Given the description of an element on the screen output the (x, y) to click on. 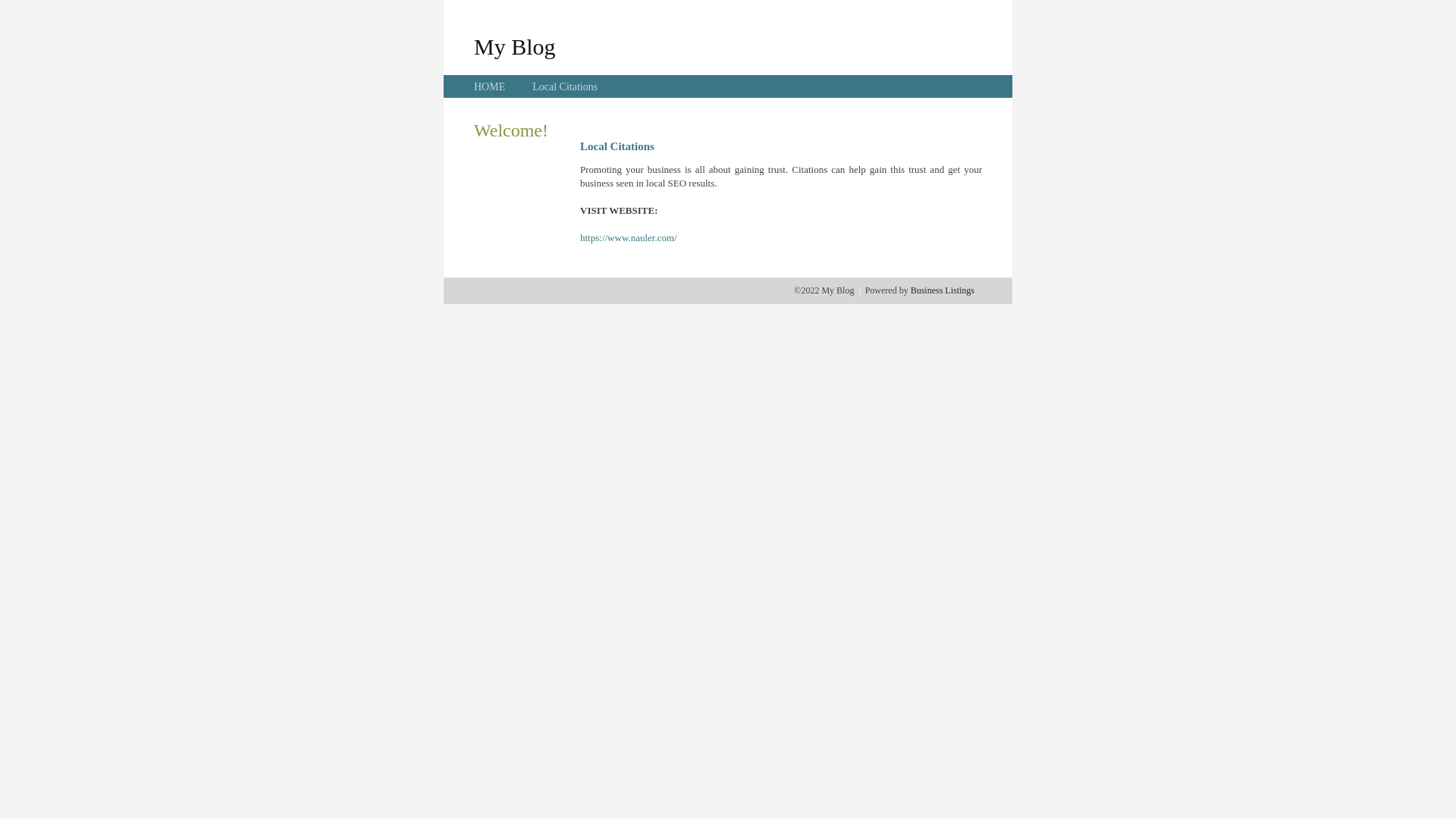
My Blog Element type: text (514, 46)
HOME Element type: text (489, 86)
https://www.nauler.com/ Element type: text (628, 237)
Local Citations Element type: text (564, 86)
Business Listings Element type: text (942, 290)
